Given the description of an element on the screen output the (x, y) to click on. 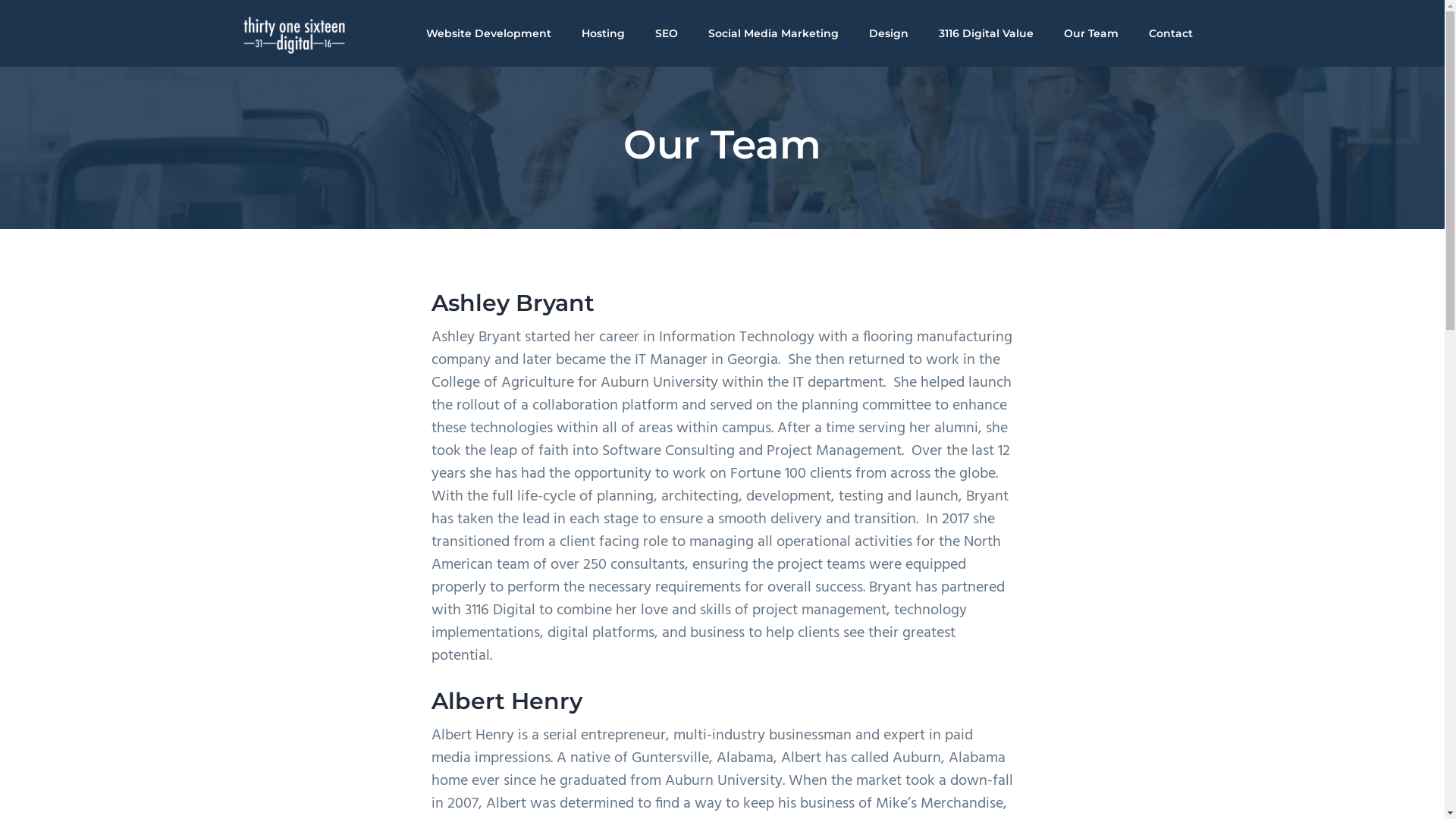
3116 Digital Value Element type: text (985, 32)
SEO Element type: text (666, 32)
Design Element type: text (888, 32)
Skip to primary navigation Element type: text (0, 0)
Website Development Element type: text (488, 32)
Contact Element type: text (1169, 32)
3116 Digital Element type: text (272, 64)
Our Team Element type: text (1090, 32)
Hosting Element type: text (602, 32)
Social Media Marketing Element type: text (773, 32)
